Given the description of an element on the screen output the (x, y) to click on. 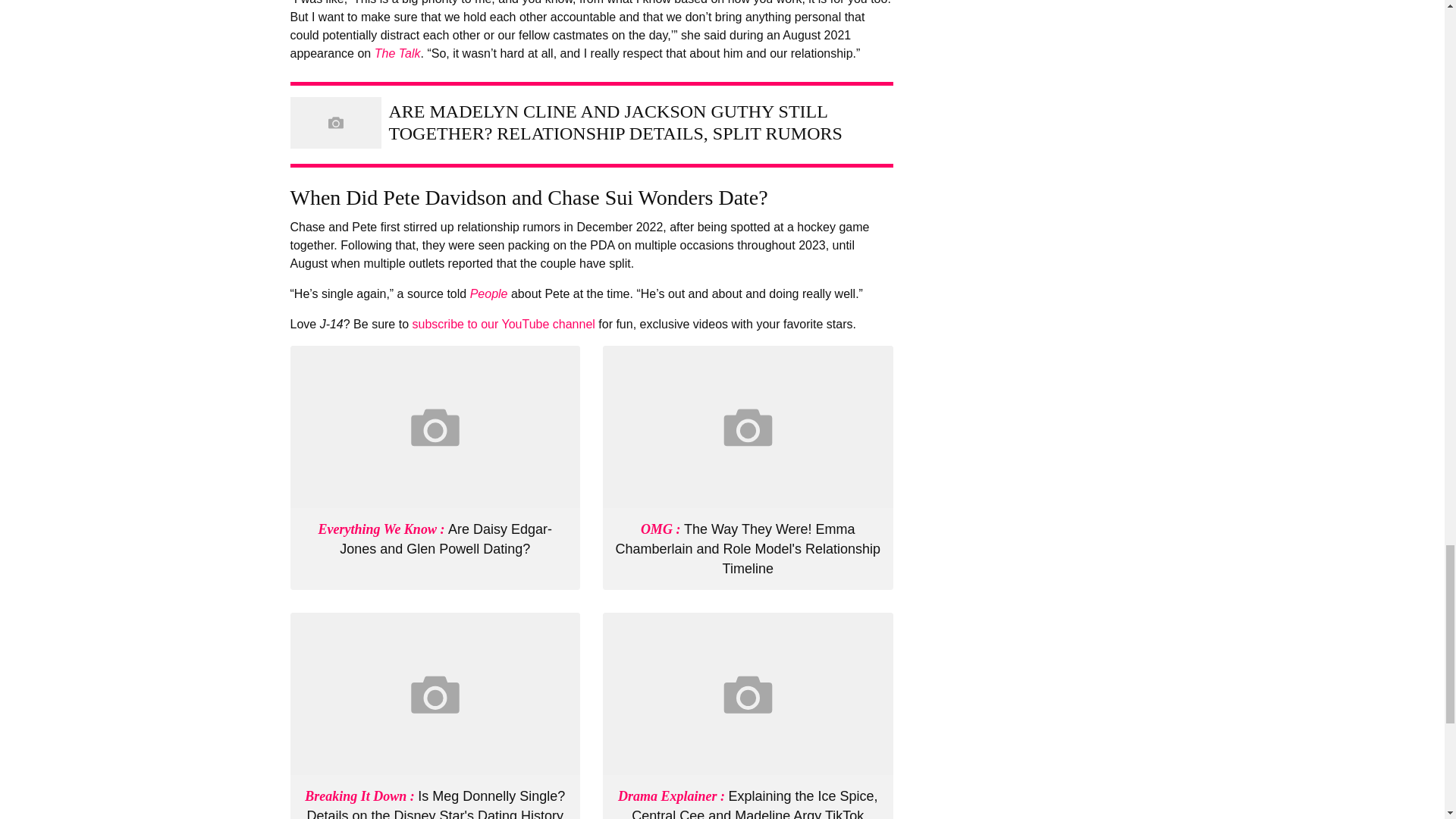
People (489, 293)
subscribe to our YouTube channel (503, 323)
The Talk (397, 52)
